Given the description of an element on the screen output the (x, y) to click on. 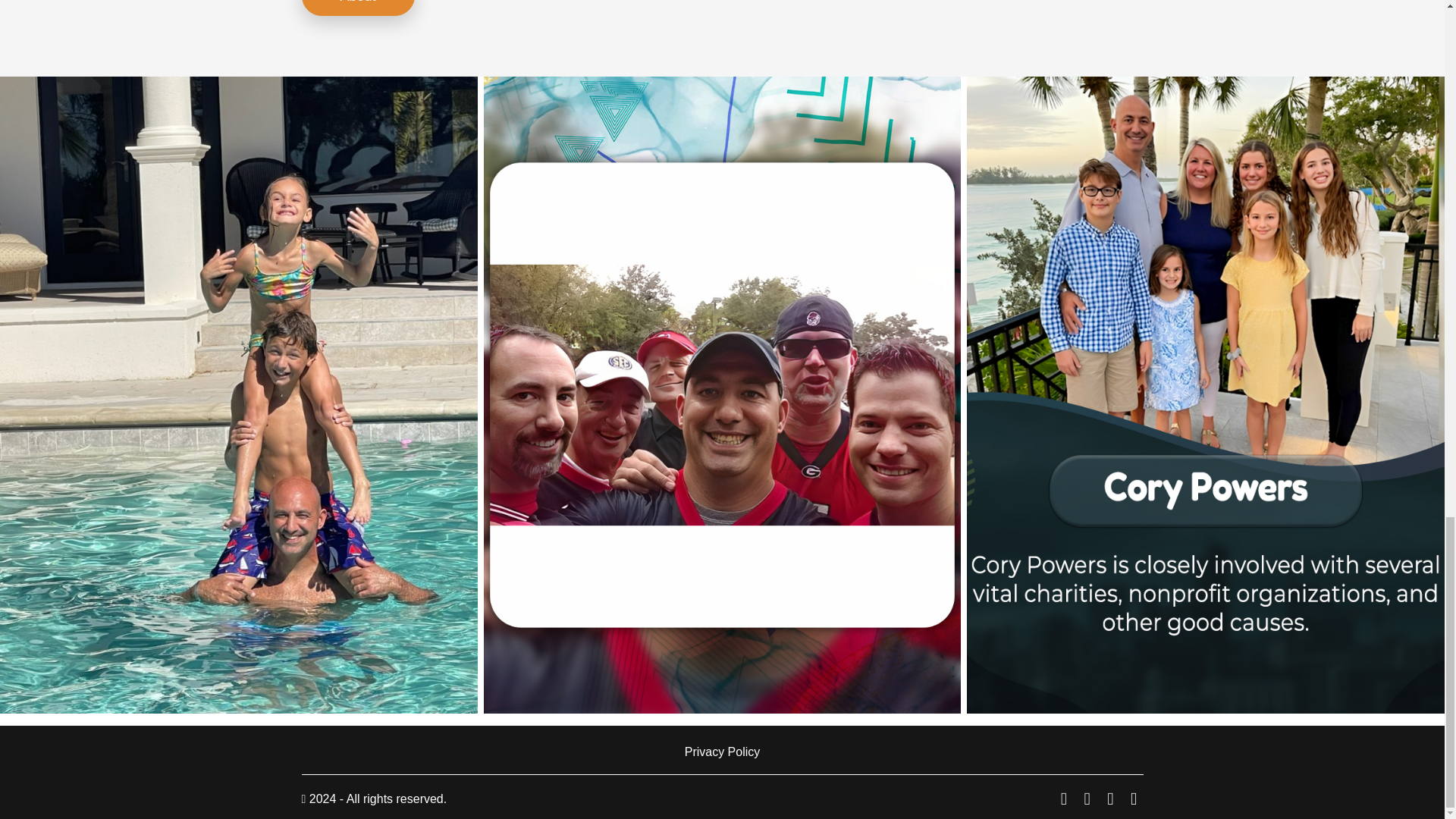
Privacy Policy (722, 751)
About (357, 7)
